Given the description of an element on the screen output the (x, y) to click on. 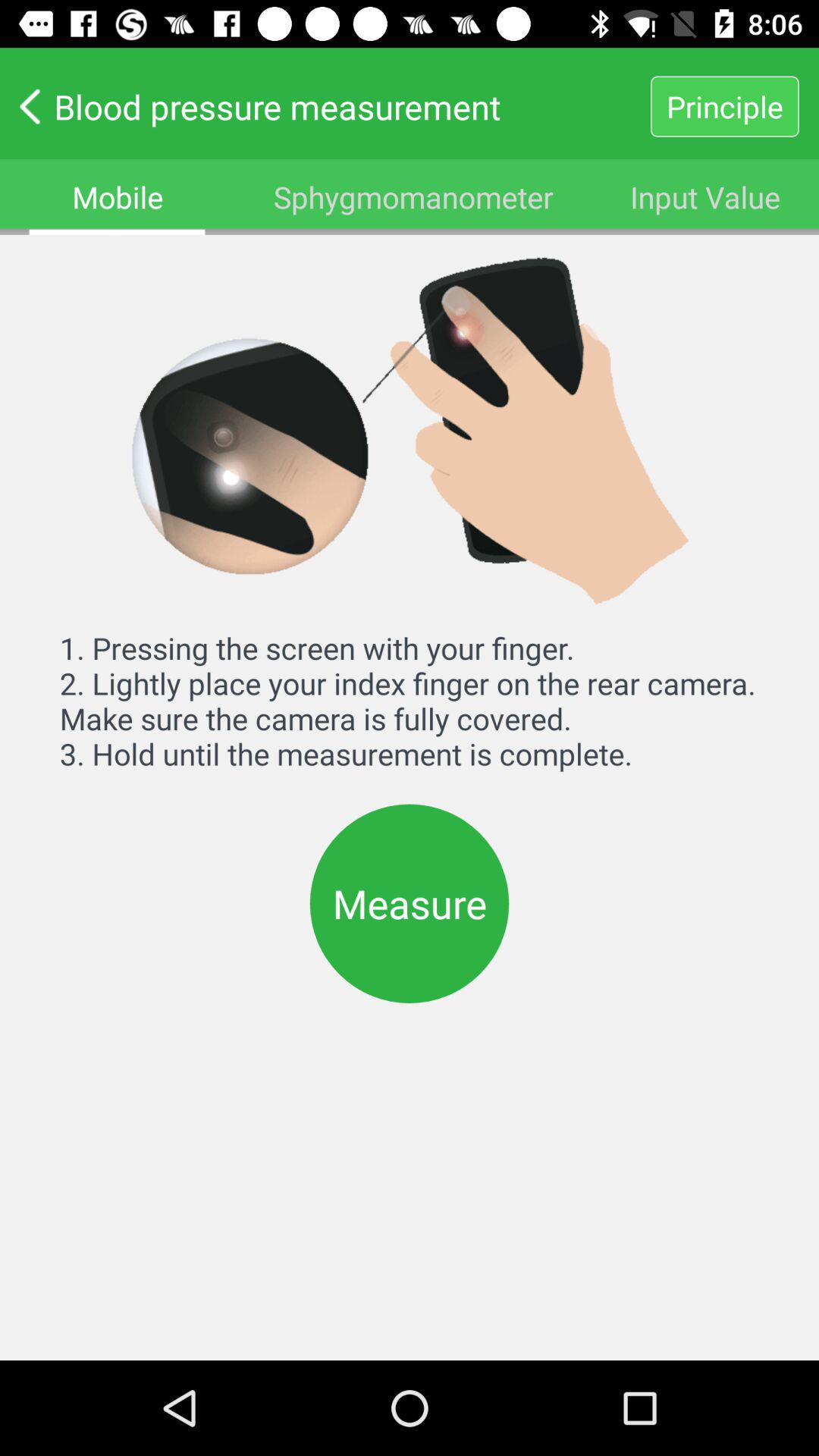
turn off the item to the left of sphygmomanometer (117, 196)
